Given the description of an element on the screen output the (x, y) to click on. 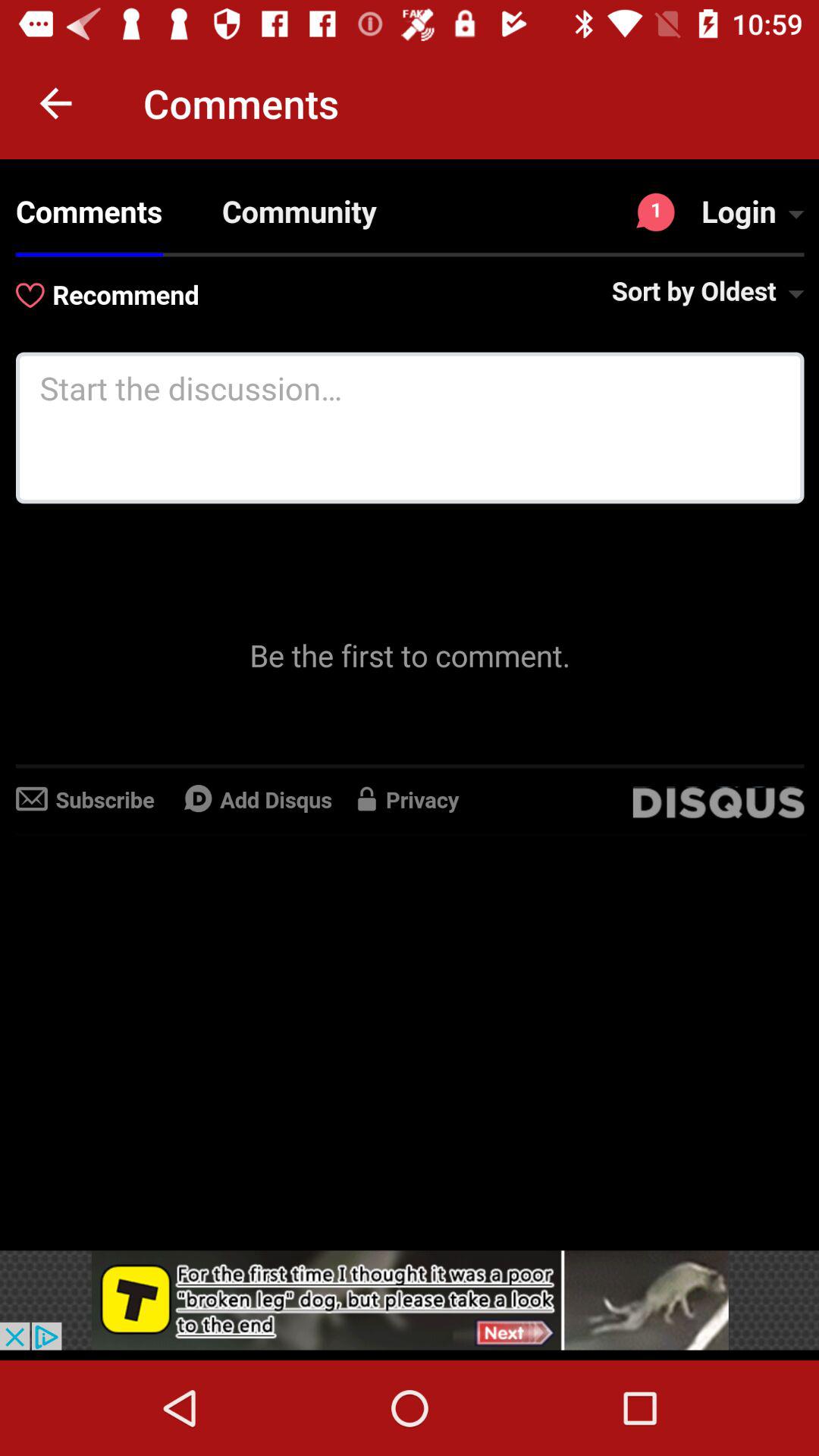
open advertisement (409, 1300)
